Given the description of an element on the screen output the (x, y) to click on. 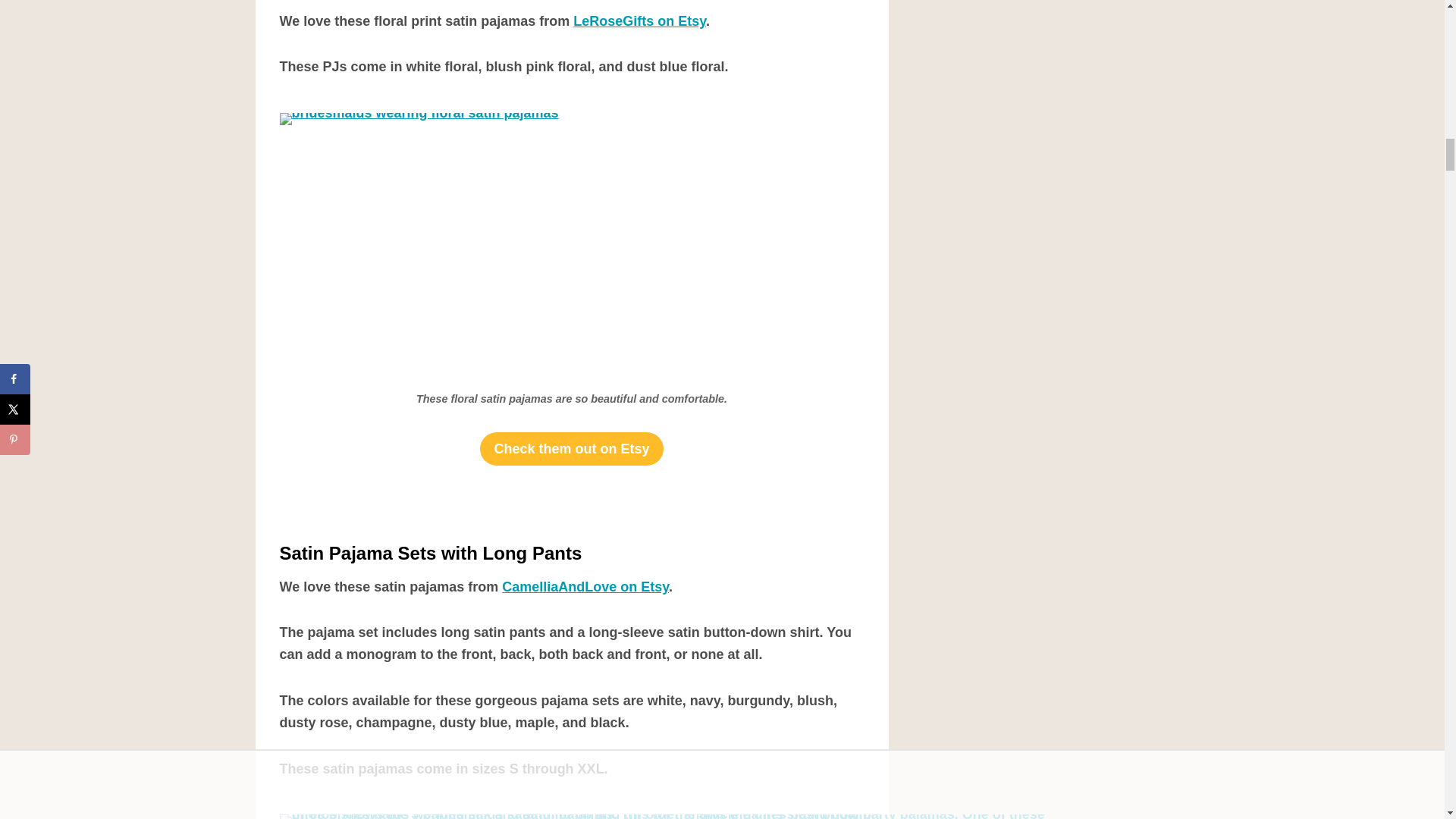
CamelliaAndLove on Etsy (585, 586)
LeRoseGifts on Etsy (639, 20)
Check them out on Etsy (571, 448)
